Given the description of an element on the screen output the (x, y) to click on. 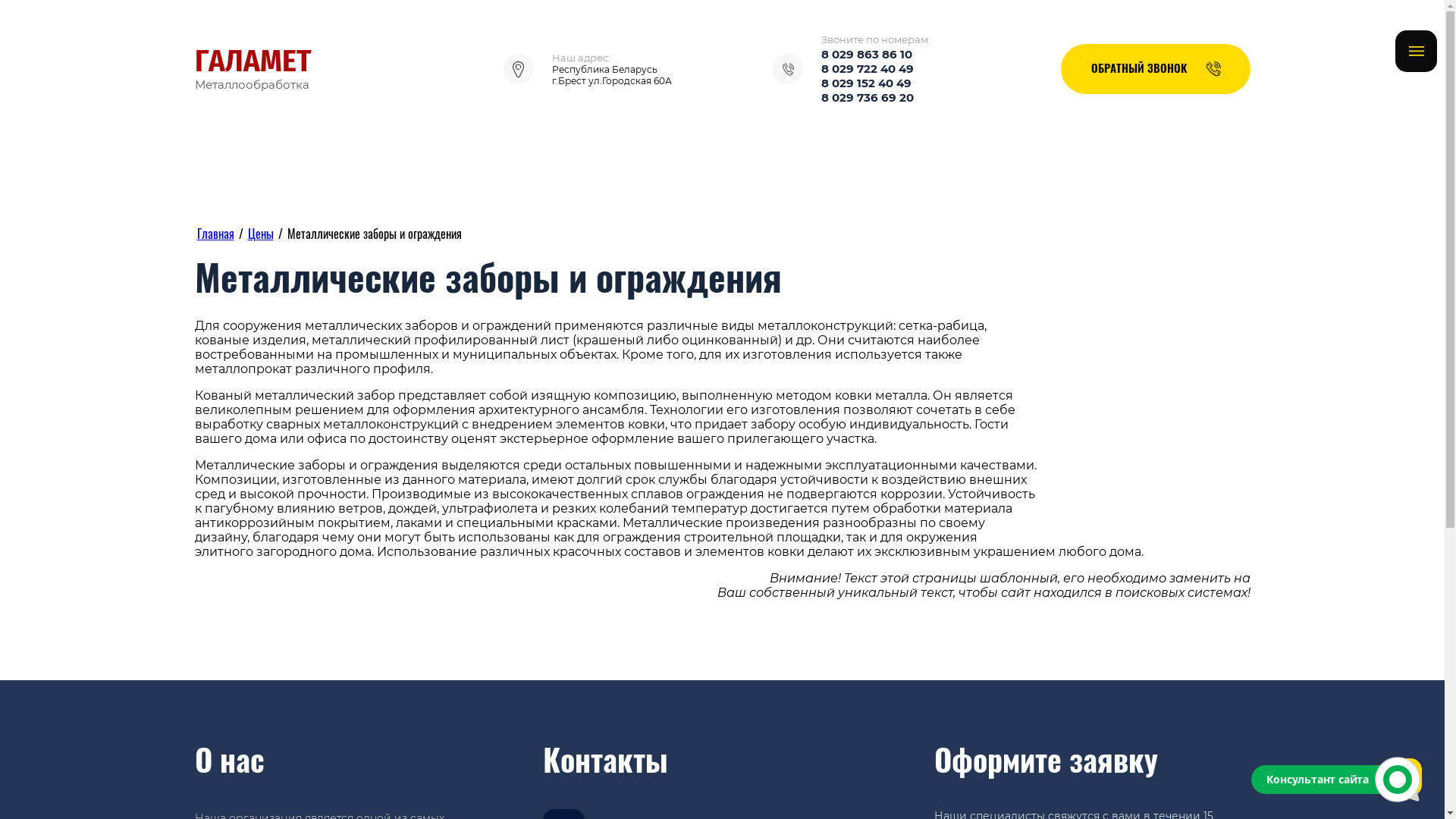
8 029 152 40 49 Element type: text (866, 82)
8 029 736 69 20 Element type: text (867, 97)
8 029 722 40 49 Element type: text (867, 68)
8 029 863 86 10 Element type: text (866, 54)
